Given the description of an element on the screen output the (x, y) to click on. 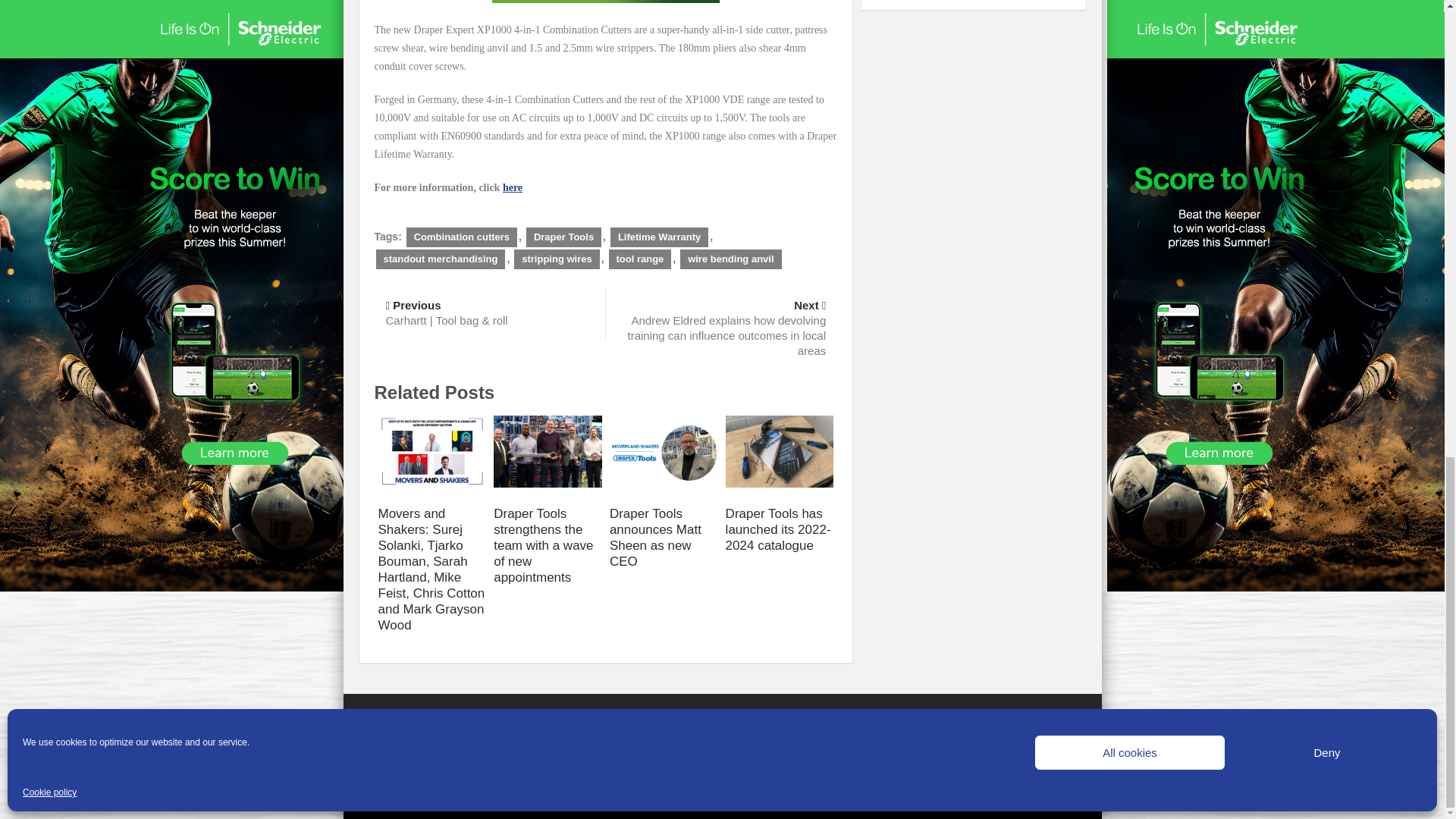
Lifetime Warranty (658, 237)
standout merchandising (440, 259)
tool range (639, 259)
stripping wires (555, 259)
Draper Tools (563, 237)
3rd party ad content (605, 2)
wire bending anvil (729, 259)
here (512, 187)
Combination cutters (461, 237)
